Given the description of an element on the screen output the (x, y) to click on. 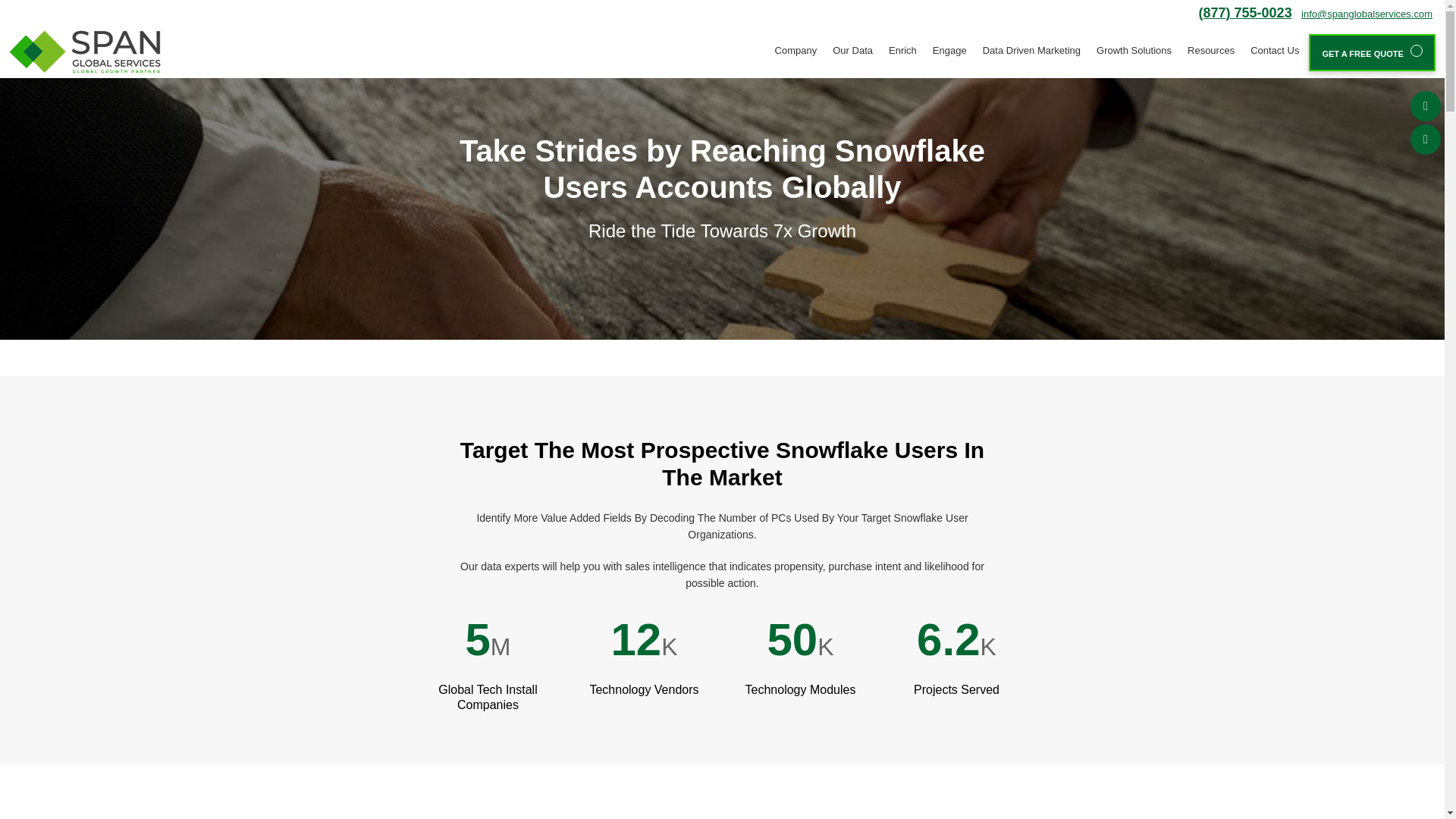
Span Global Services (84, 51)
home (84, 51)
Growth Solutions (1132, 50)
Company (794, 50)
Engage (947, 50)
Data Driven Marketing (1029, 50)
Enrich (901, 50)
Our Data (851, 50)
